Given the description of an element on the screen output the (x, y) to click on. 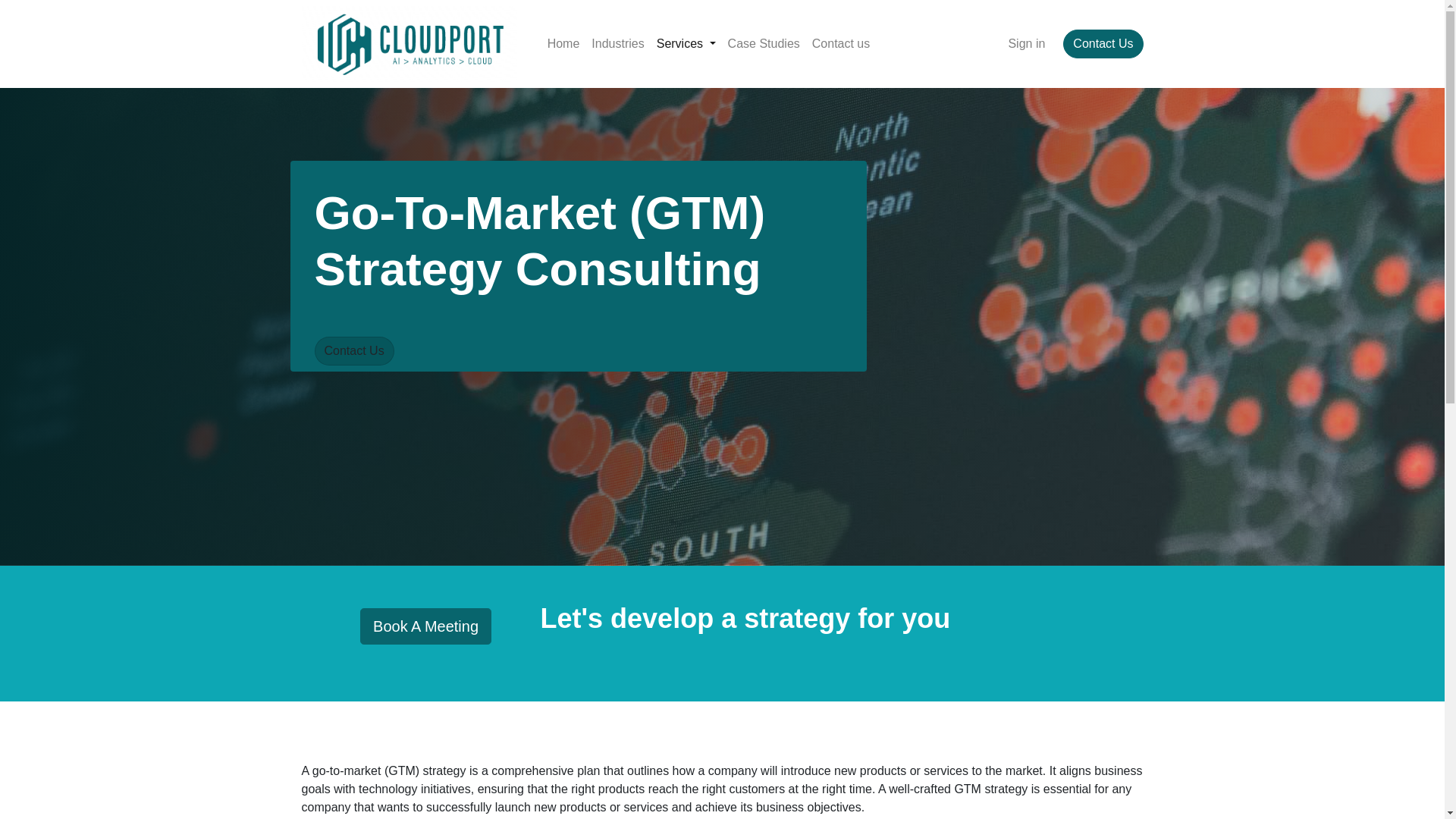
Cloudport (408, 43)
Industries (617, 43)
Case Studies (764, 43)
Services (686, 43)
Book A Meeting (425, 626)
Contact Us (1102, 43)
Contact us (841, 43)
Sign in (1026, 43)
Contact Us (353, 350)
Home (563, 43)
